Given the description of an element on the screen output the (x, y) to click on. 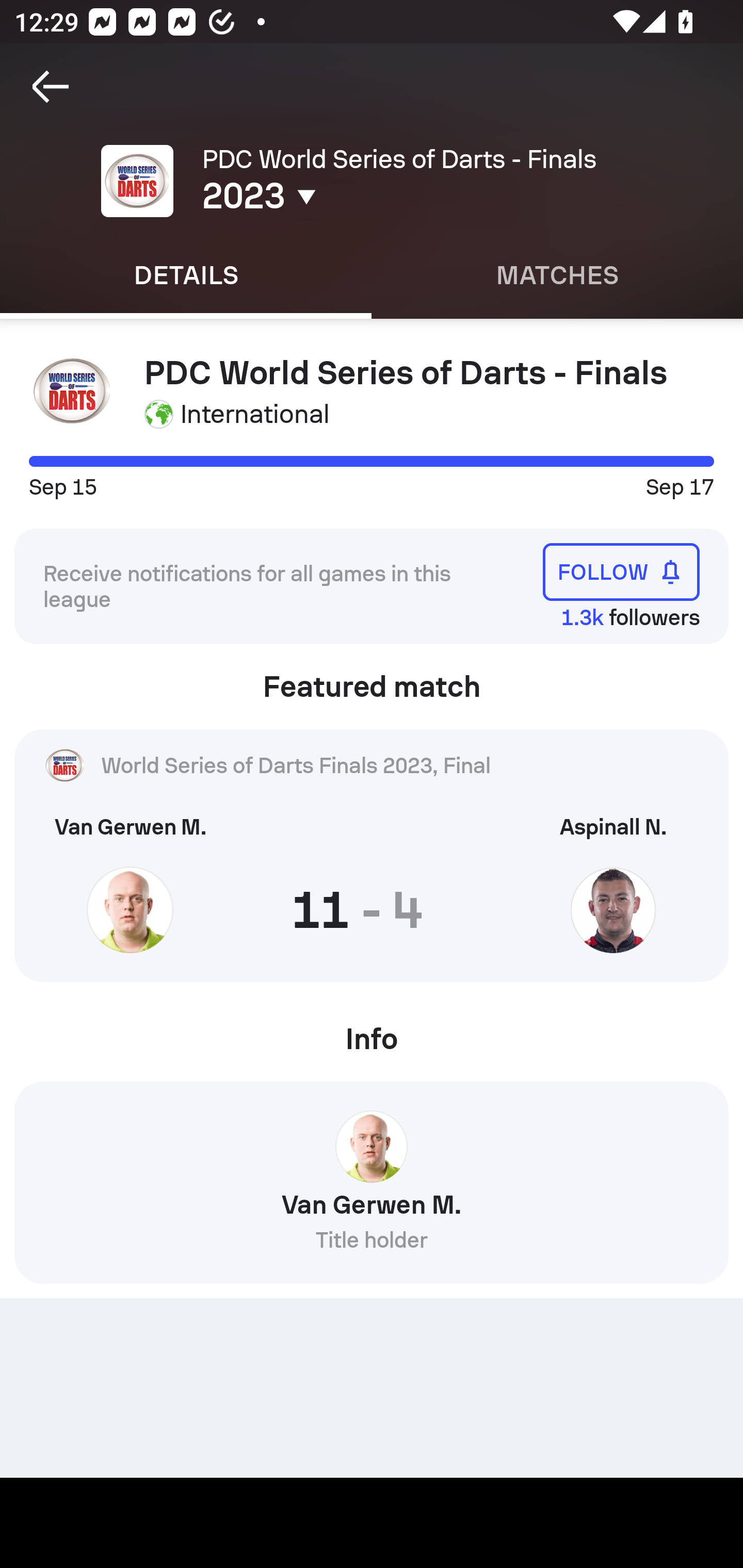
Navigate up (50, 86)
2023 (350, 195)
Matches MATCHES (557, 275)
FOLLOW (621, 571)
Van Gerwen M. Title holder (371, 1190)
